Given the description of an element on the screen output the (x, y) to click on. 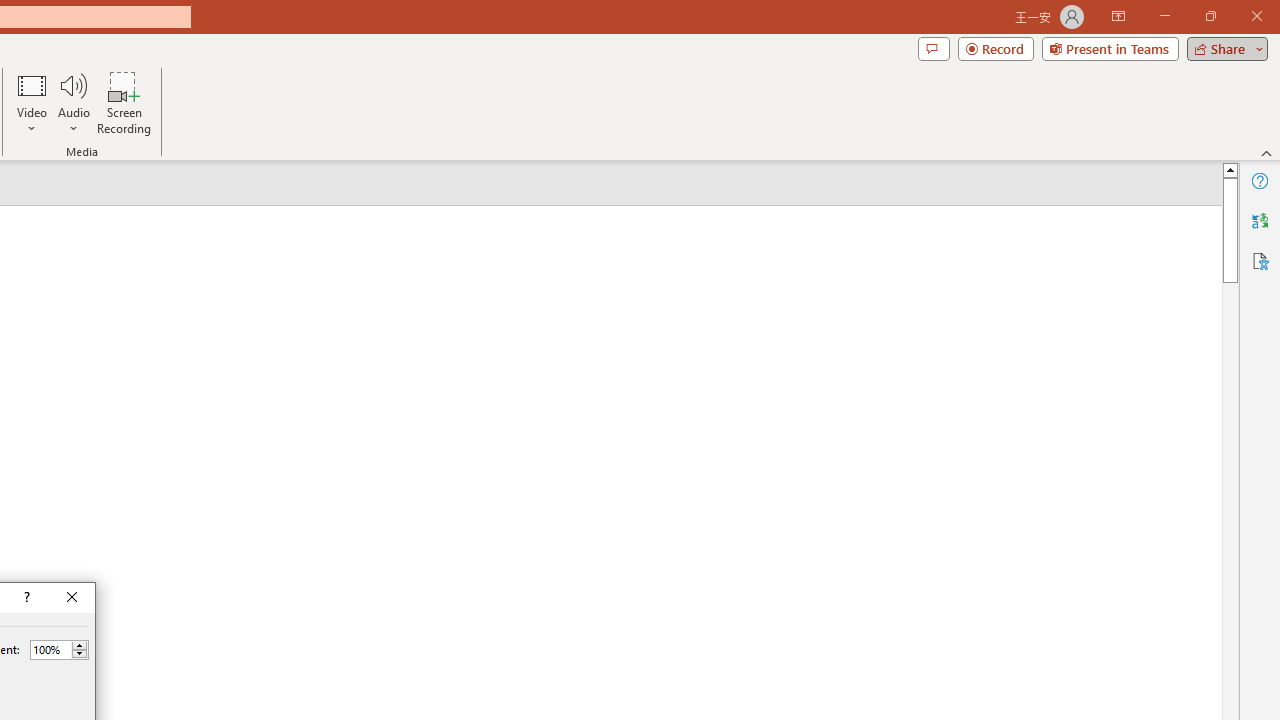
Screen Recording... (123, 102)
Percent (59, 650)
Video (31, 102)
